Given the description of an element on the screen output the (x, y) to click on. 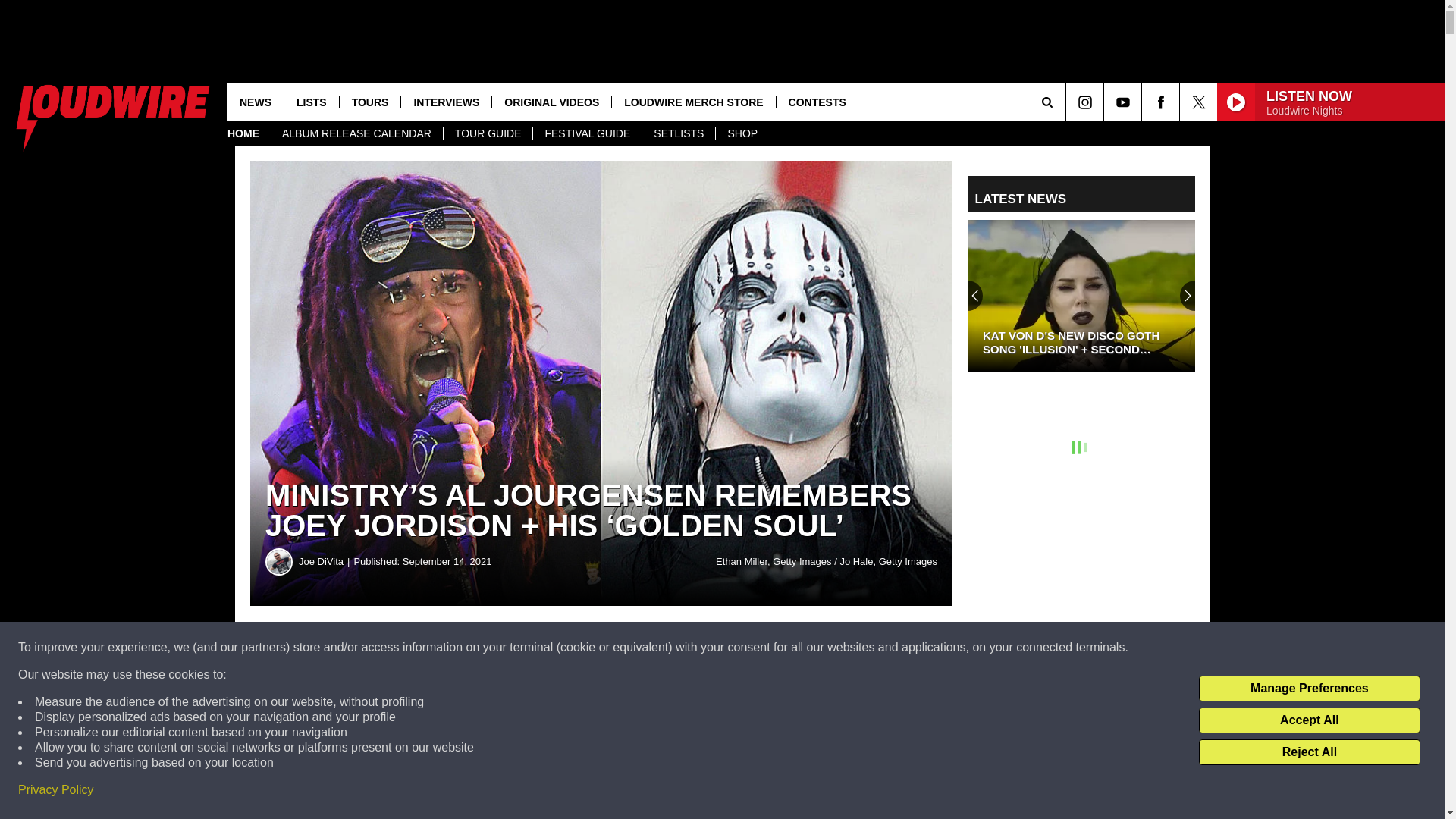
Privacy Policy (55, 789)
SHARE (460, 647)
ALBUM RELEASE CALENDAR (356, 133)
Joe DiVita (278, 561)
SEARCH (1068, 102)
LISTS (311, 102)
Visit us on Instagram (1084, 102)
TOURS (370, 102)
Accept All (1309, 720)
Joe DiVita (325, 561)
Visit us on Youtube (1122, 102)
TOUR GUIDE (487, 133)
SETLISTS (678, 133)
INTERVIEWS (446, 102)
Manage Preferences (1309, 688)
